Given the description of an element on the screen output the (x, y) to click on. 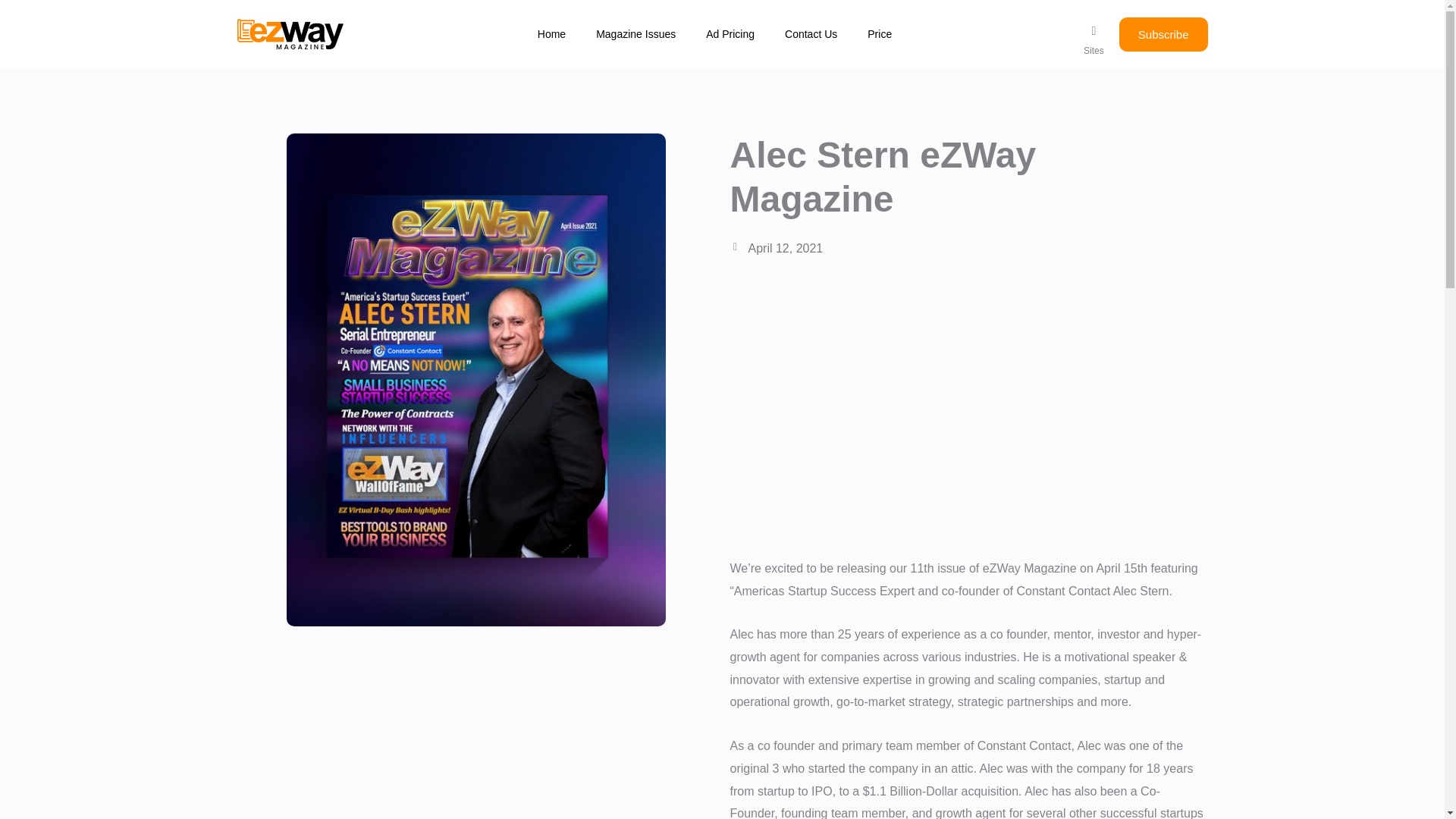
Contact Us (810, 34)
Sites (1093, 50)
Home (551, 34)
Magazine Issues (635, 34)
Price (879, 34)
Subscribe (1163, 33)
Ad Pricing (730, 34)
